Given the description of an element on the screen output the (x, y) to click on. 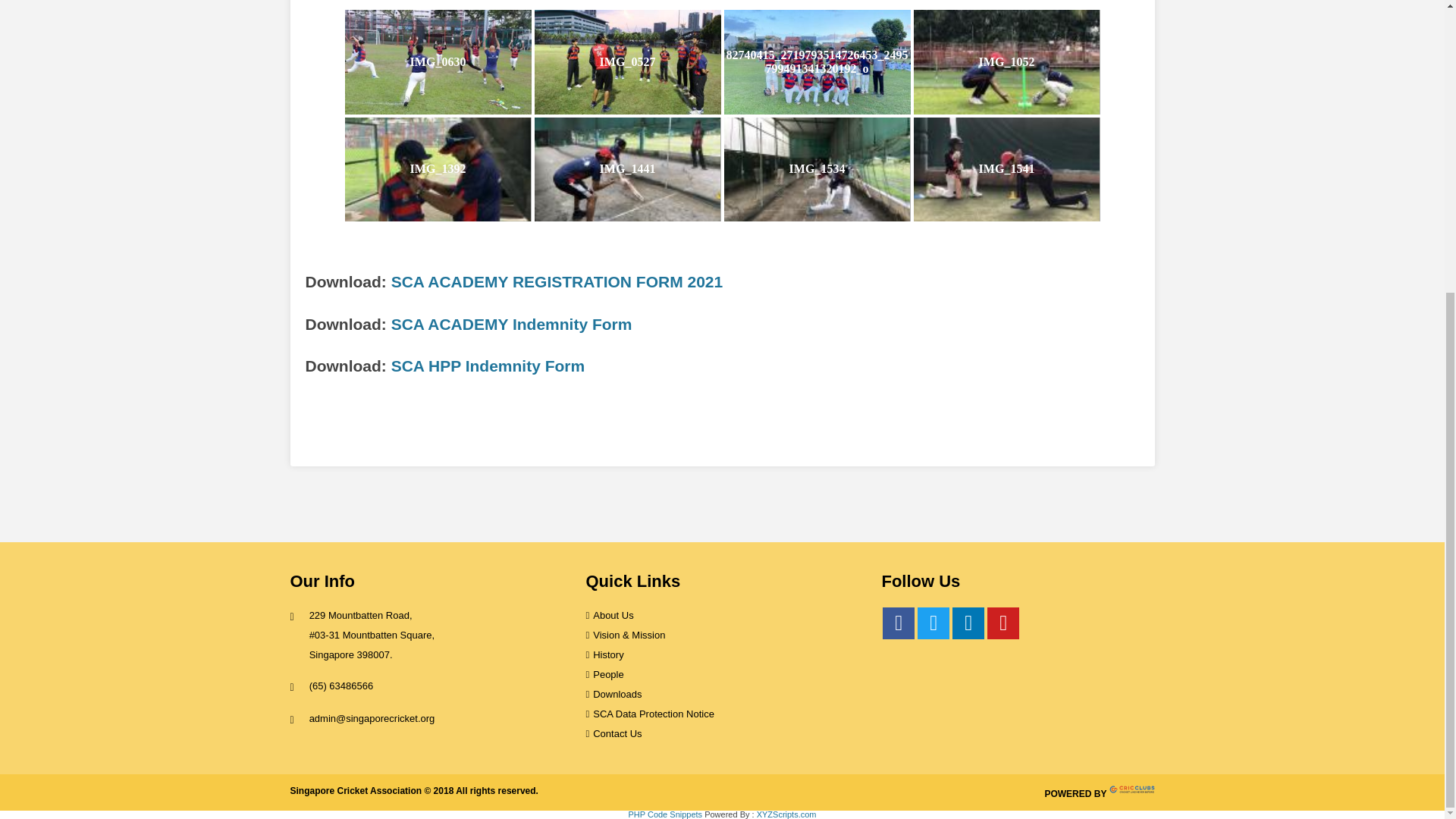
YouTube (1003, 623)
Facebook (898, 623)
LinkedIn (968, 623)
Twitter (933, 623)
